Given the description of an element on the screen output the (x, y) to click on. 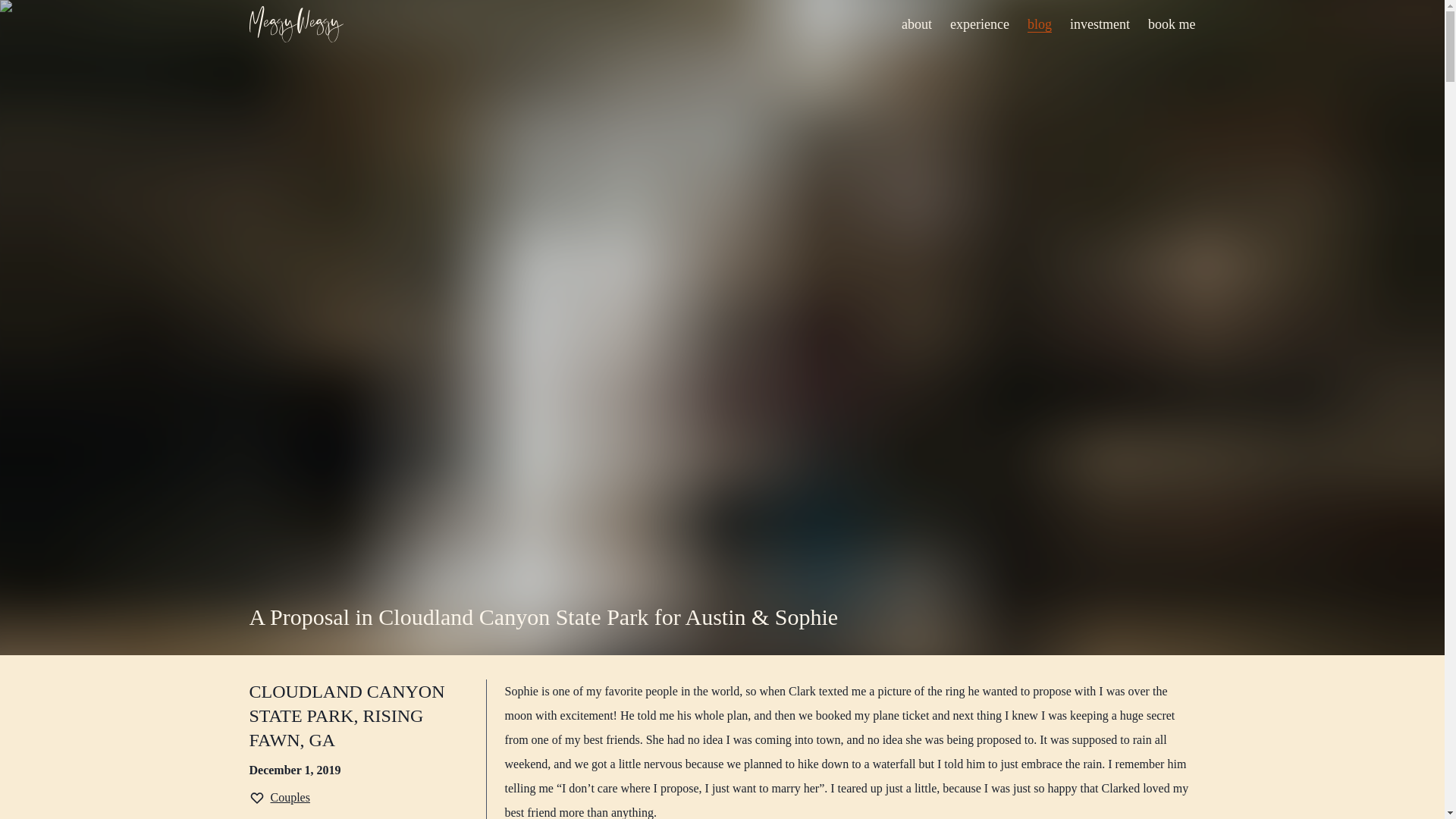
blog (1039, 24)
book me (1171, 23)
about (916, 23)
experience (979, 23)
investment (1099, 23)
Couples (278, 797)
